Given the description of an element on the screen output the (x, y) to click on. 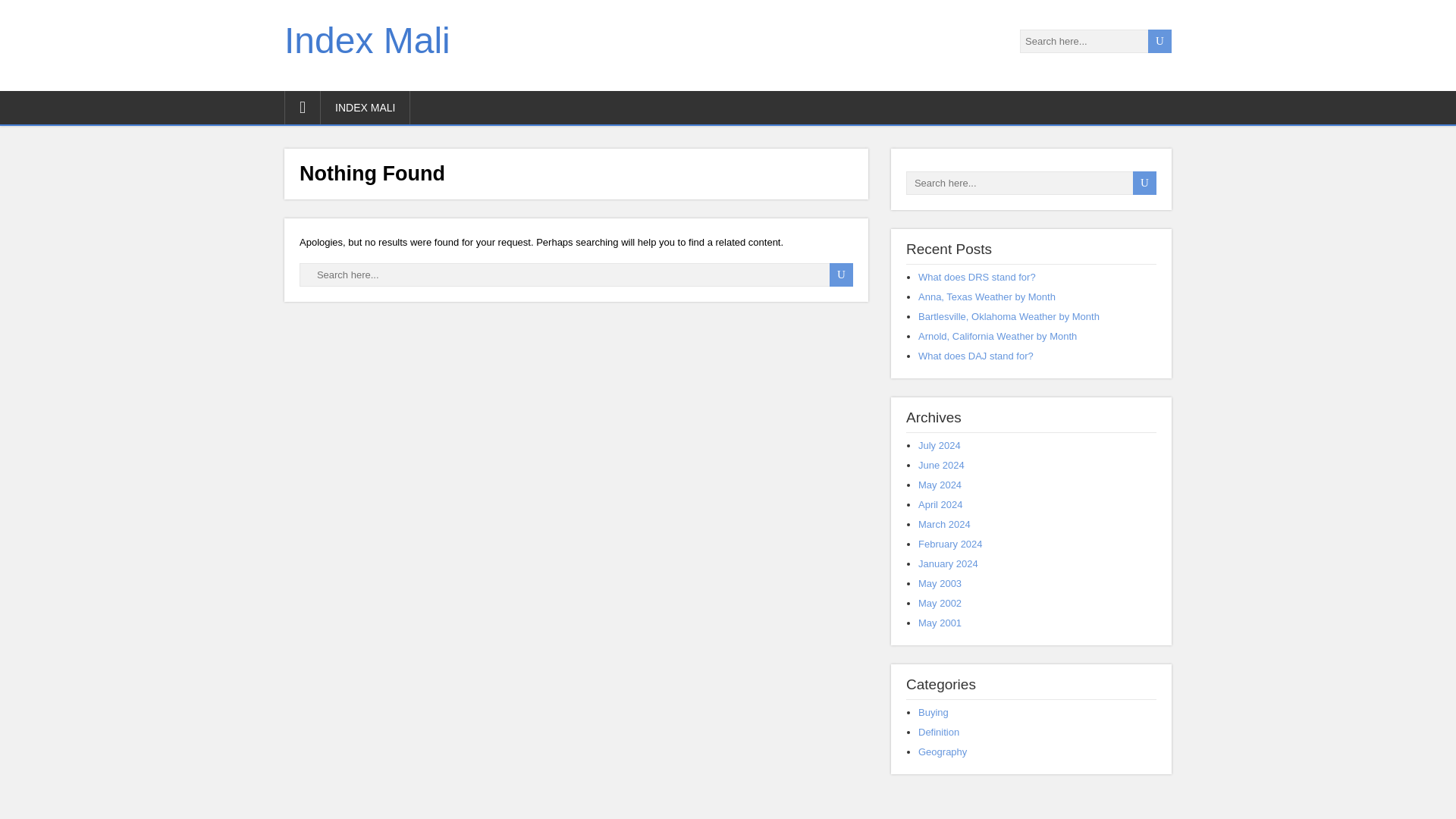
U (841, 274)
U (1144, 182)
Index Mali (366, 40)
February 2024 (950, 543)
U (1144, 182)
Anna, Texas Weather by Month (986, 296)
U (841, 274)
January 2024 (948, 563)
U (841, 274)
May 2003 (939, 583)
Geography (942, 751)
Bartlesville, Oklahoma Weather by Month (1008, 316)
Arnold, California Weather by Month (997, 336)
U (1160, 41)
Buying (933, 712)
